Given the description of an element on the screen output the (x, y) to click on. 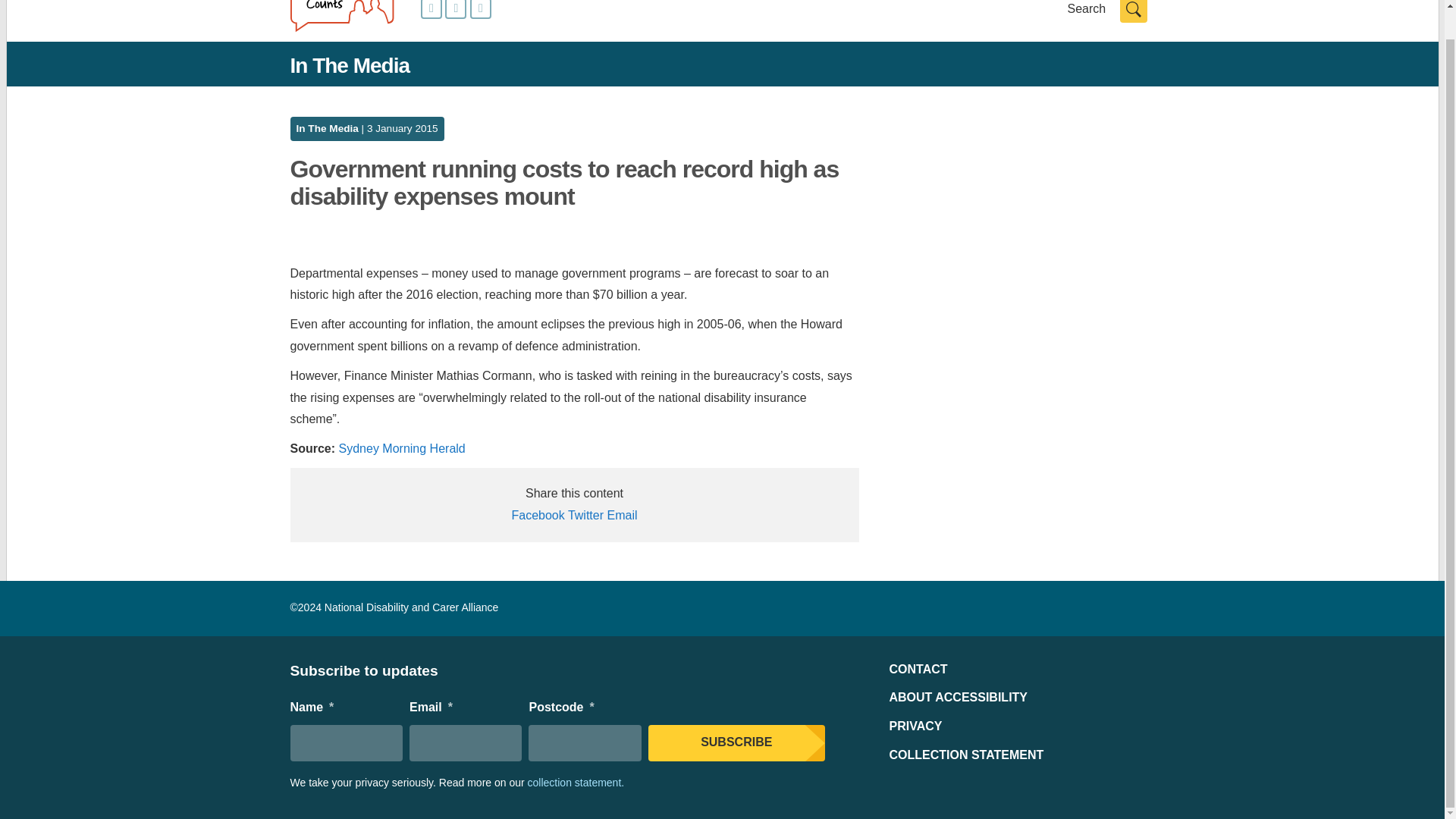
Share via Facebook (537, 514)
CONTACT (917, 668)
In The Media (326, 128)
Share via Twitter (585, 514)
collection statement. (575, 782)
Subscribe (736, 742)
Search (1133, 11)
ABOUT ACCESSIBILITY (957, 697)
Subscribe (736, 742)
Sydney Morning Herald (402, 448)
